Given the description of an element on the screen output the (x, y) to click on. 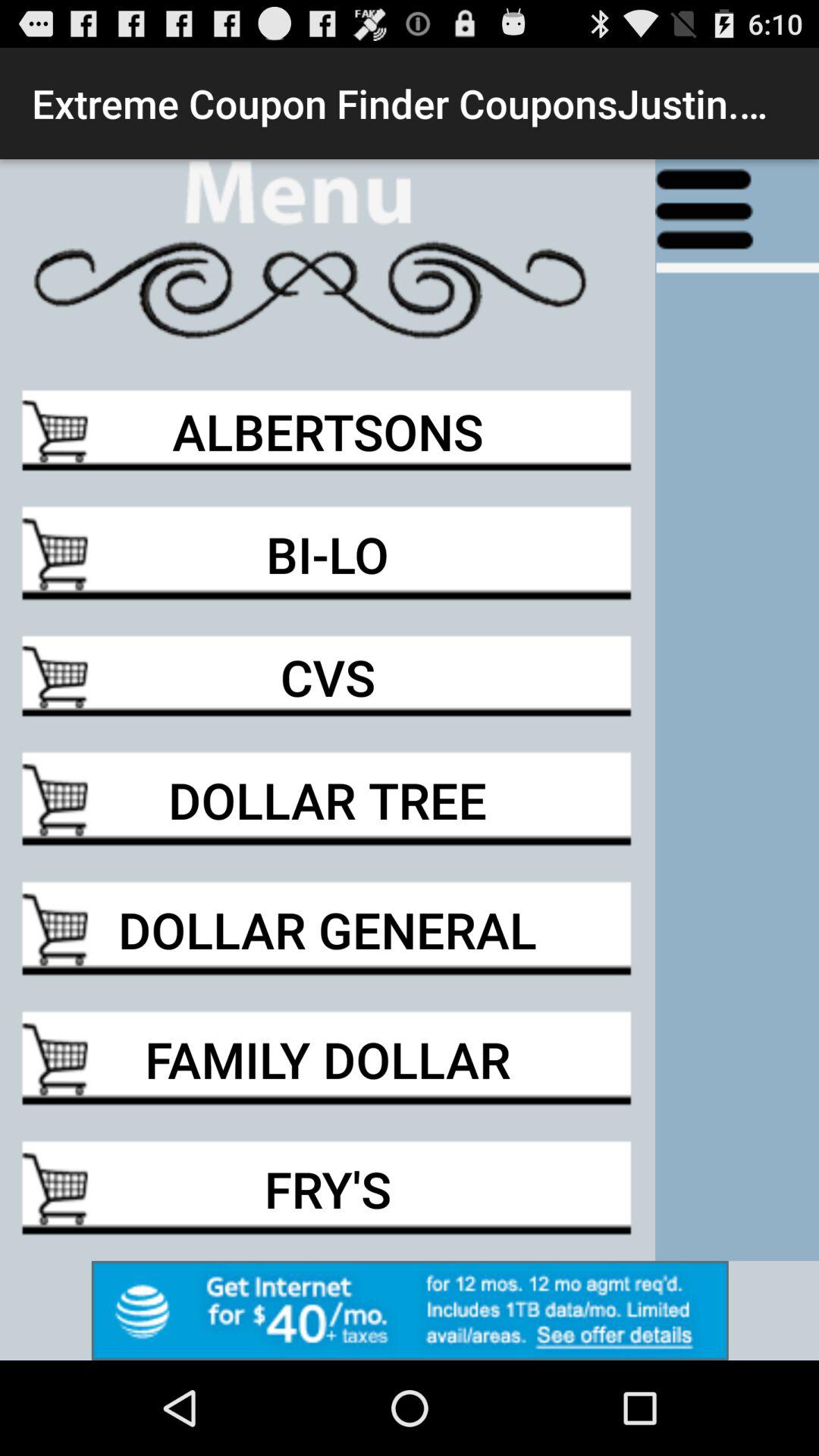
advertisement area (409, 1310)
